Given the description of an element on the screen output the (x, y) to click on. 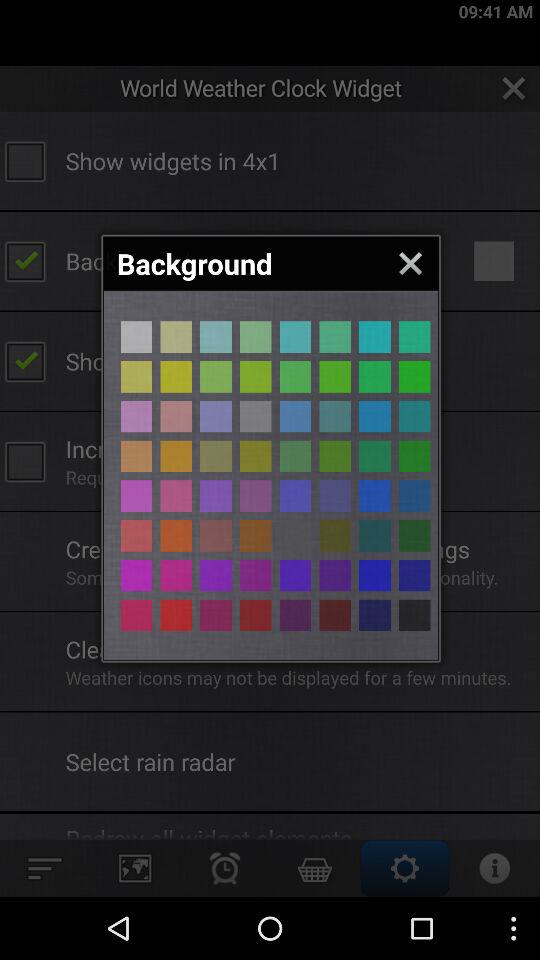
background (295, 495)
